Given the description of an element on the screen output the (x, y) to click on. 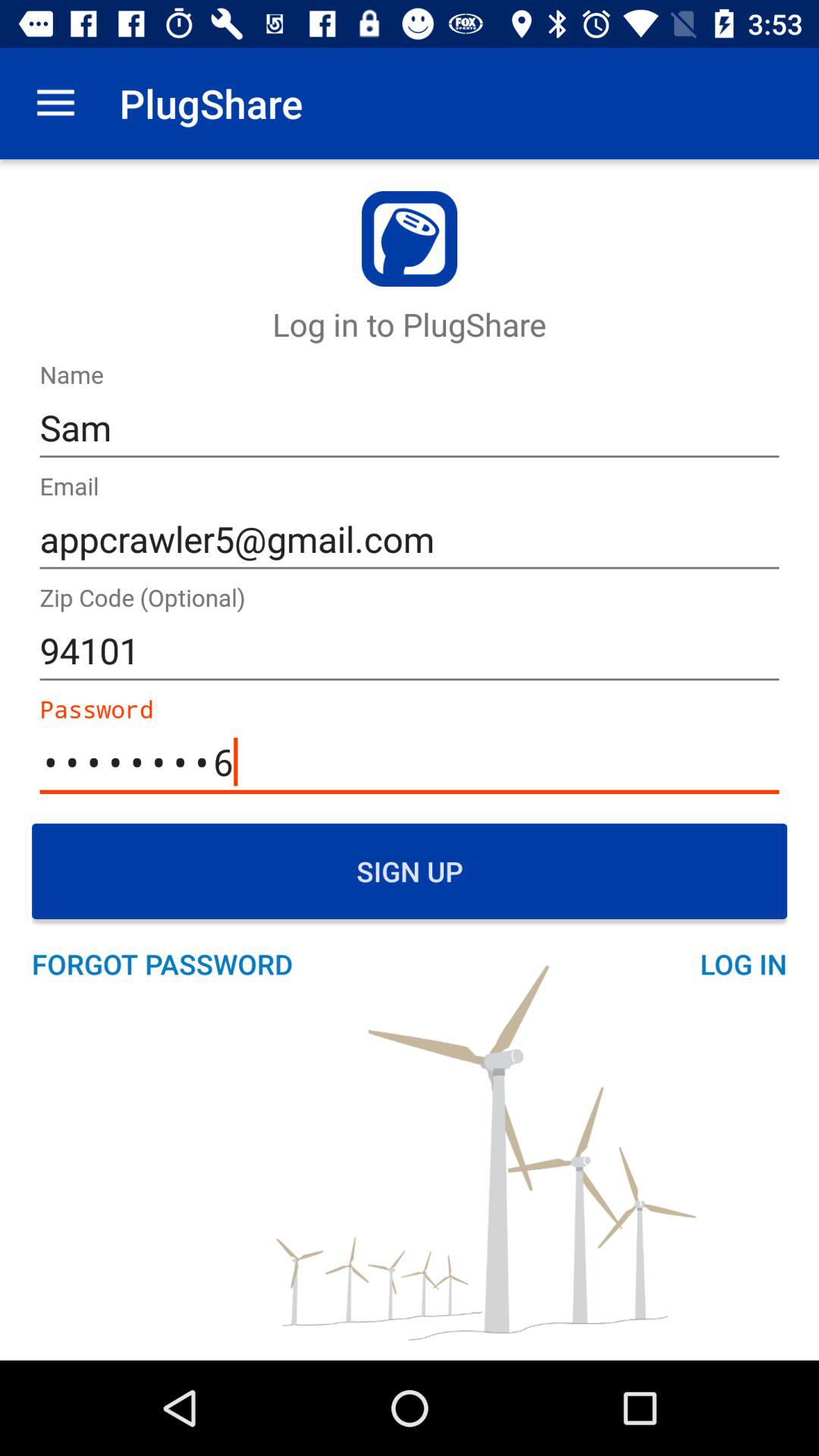
jump to sign up (409, 871)
